Given the description of an element on the screen output the (x, y) to click on. 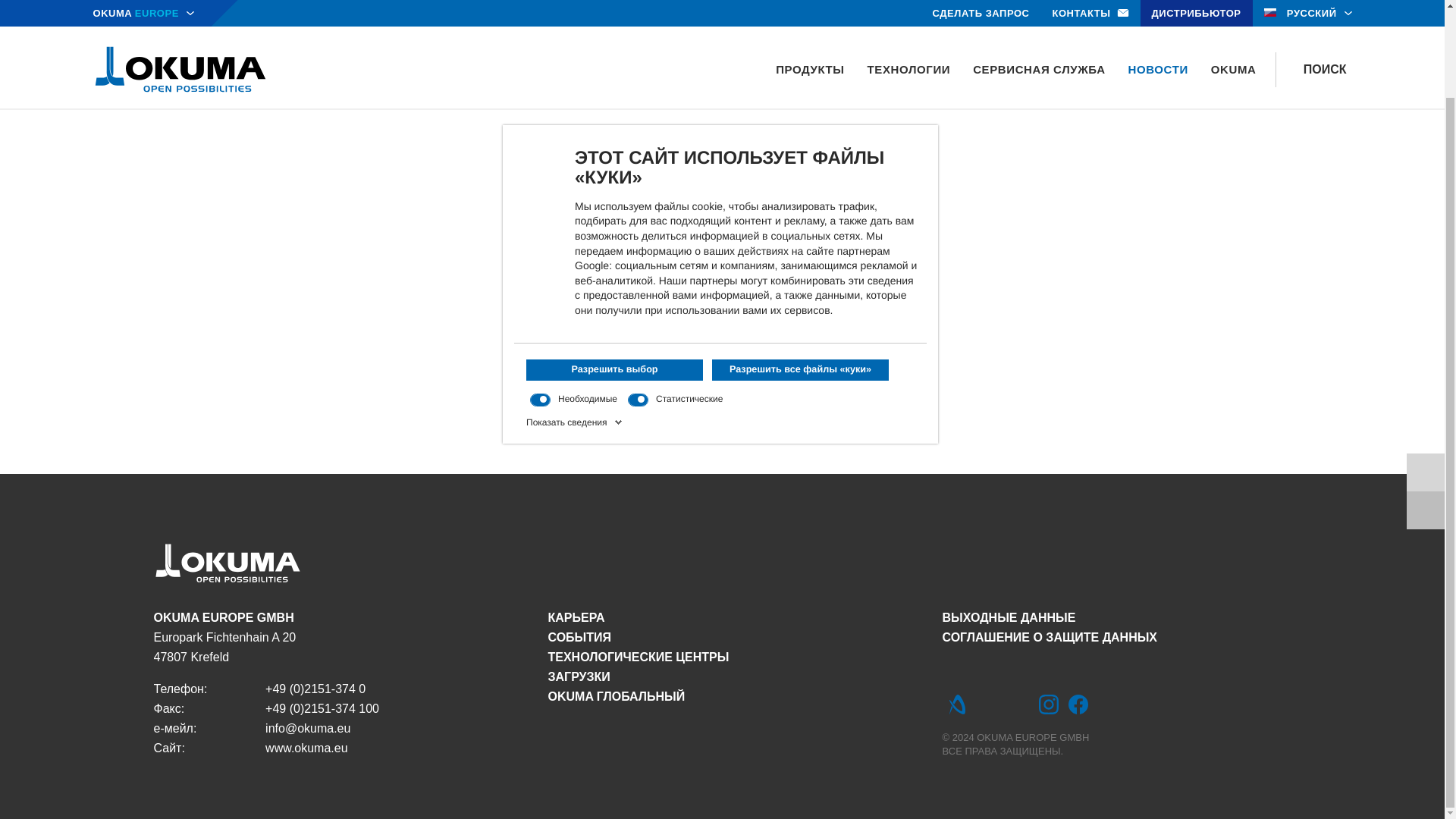
on (539, 299)
on (637, 299)
